Given the description of an element on the screen output the (x, y) to click on. 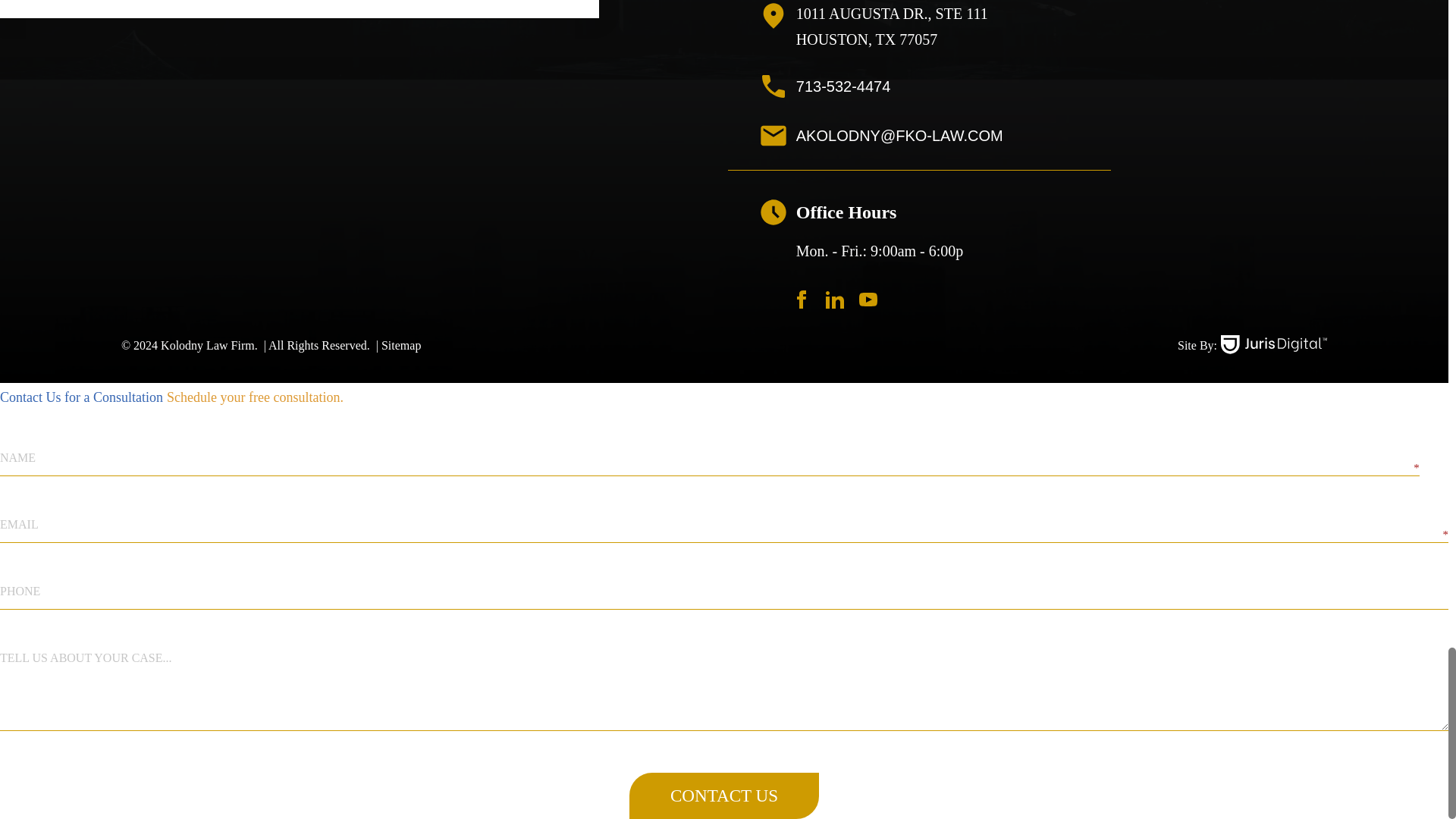
Call Kolodny Law Firm (1061, 86)
Site by Juris Digital Law Firm Marketing (1273, 343)
713-532-4474 (1061, 86)
Kolodny Law Firm's sitemap (397, 345)
Email (1061, 135)
